Given the description of an element on the screen output the (x, y) to click on. 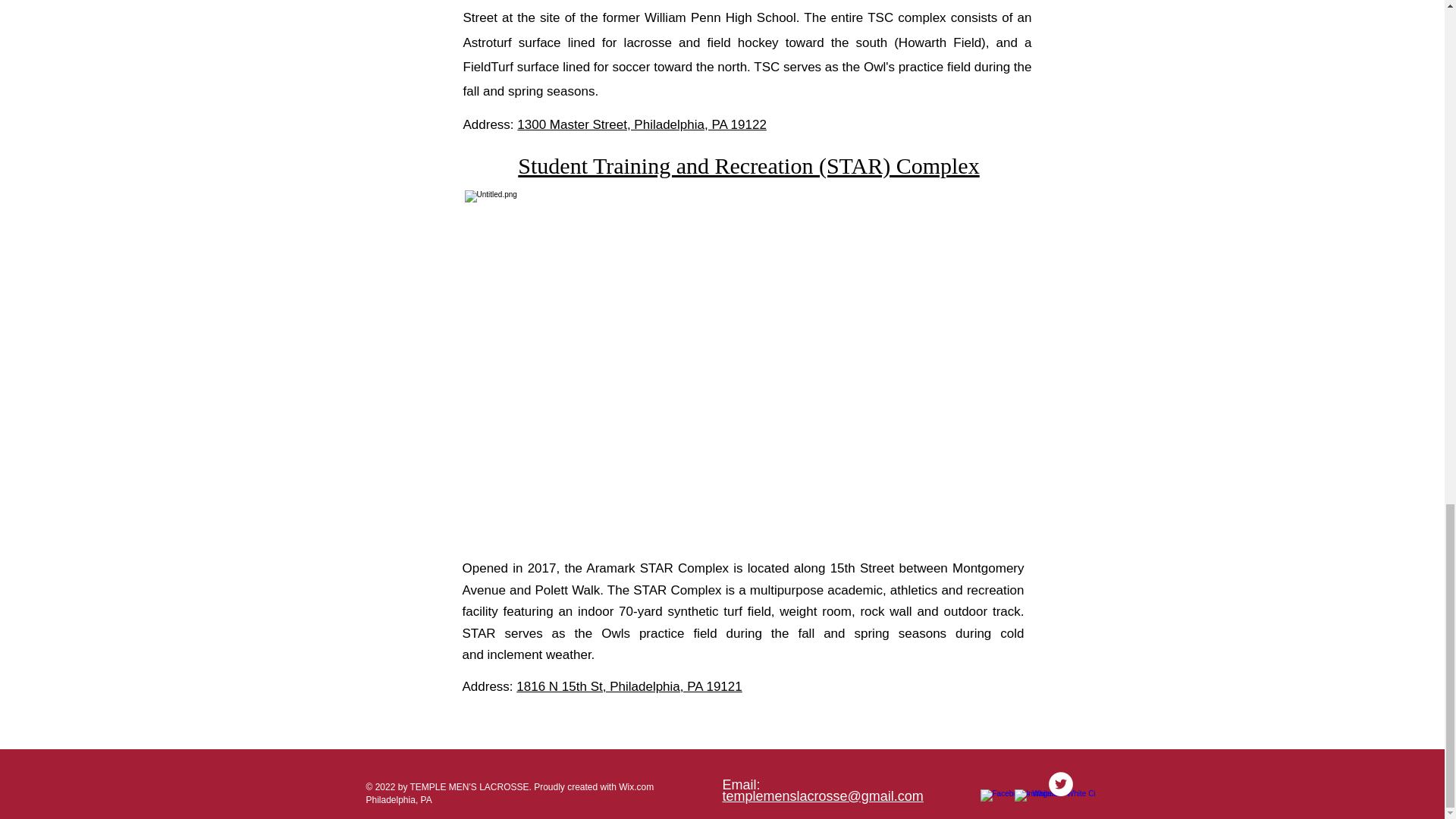
1816 N 15th St, Philadelphia, PA 19121 (628, 686)
1300 Master Street, Philadelphia, PA 19122 (641, 124)
